Given the description of an element on the screen output the (x, y) to click on. 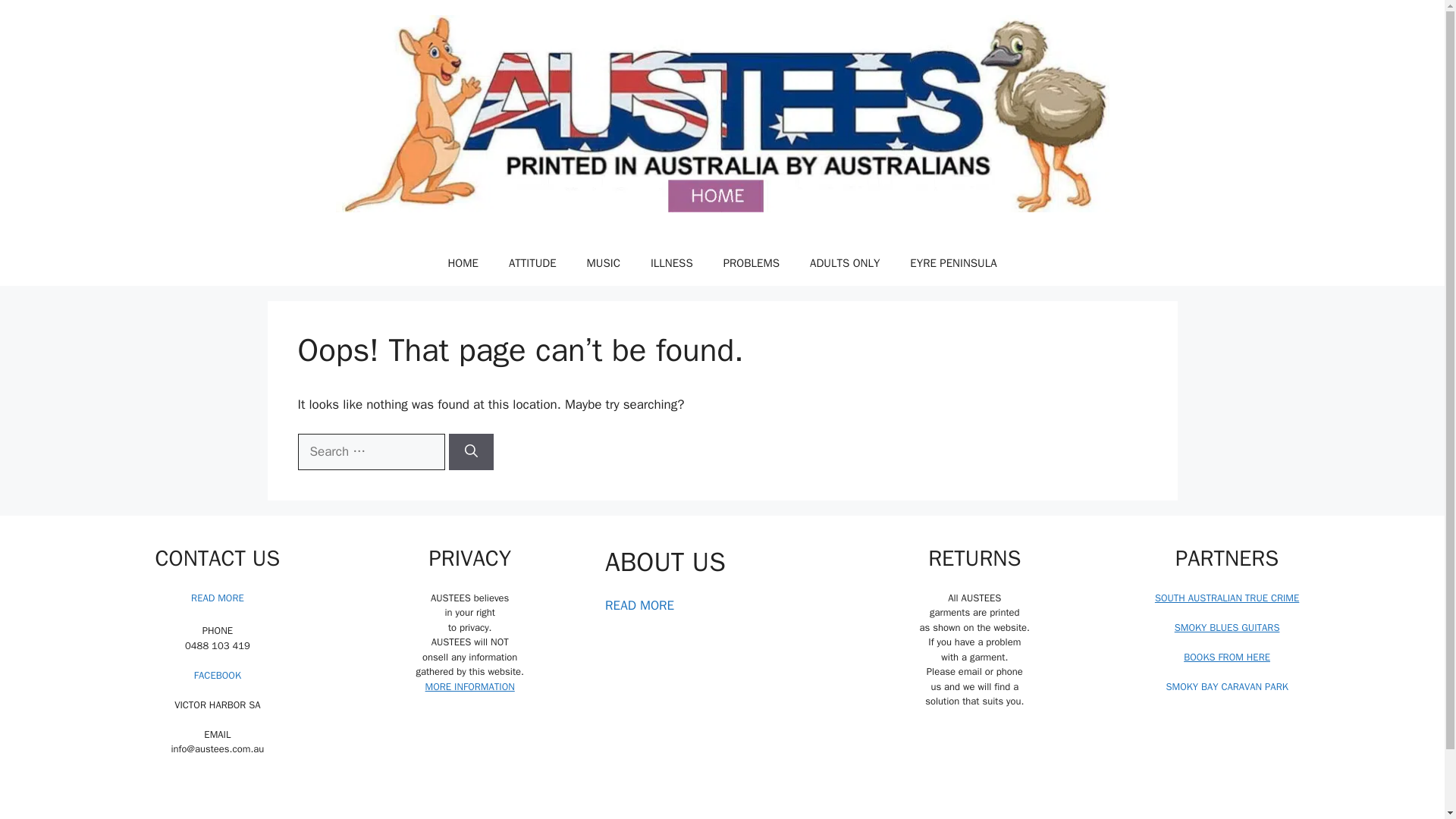
MORE INFORMATION (470, 686)
ADULTS ONLY (844, 262)
ILLNESS (670, 262)
SMOKY BLUES GUITARS (1226, 626)
Search for: (370, 452)
FACEBOOK (217, 675)
ATTITUDE (532, 262)
BOOKS FROM HERE (1226, 656)
SOUTH AUSTRALIAN TRUE CRIME (1226, 597)
READ MORE (639, 605)
